Given the description of an element on the screen output the (x, y) to click on. 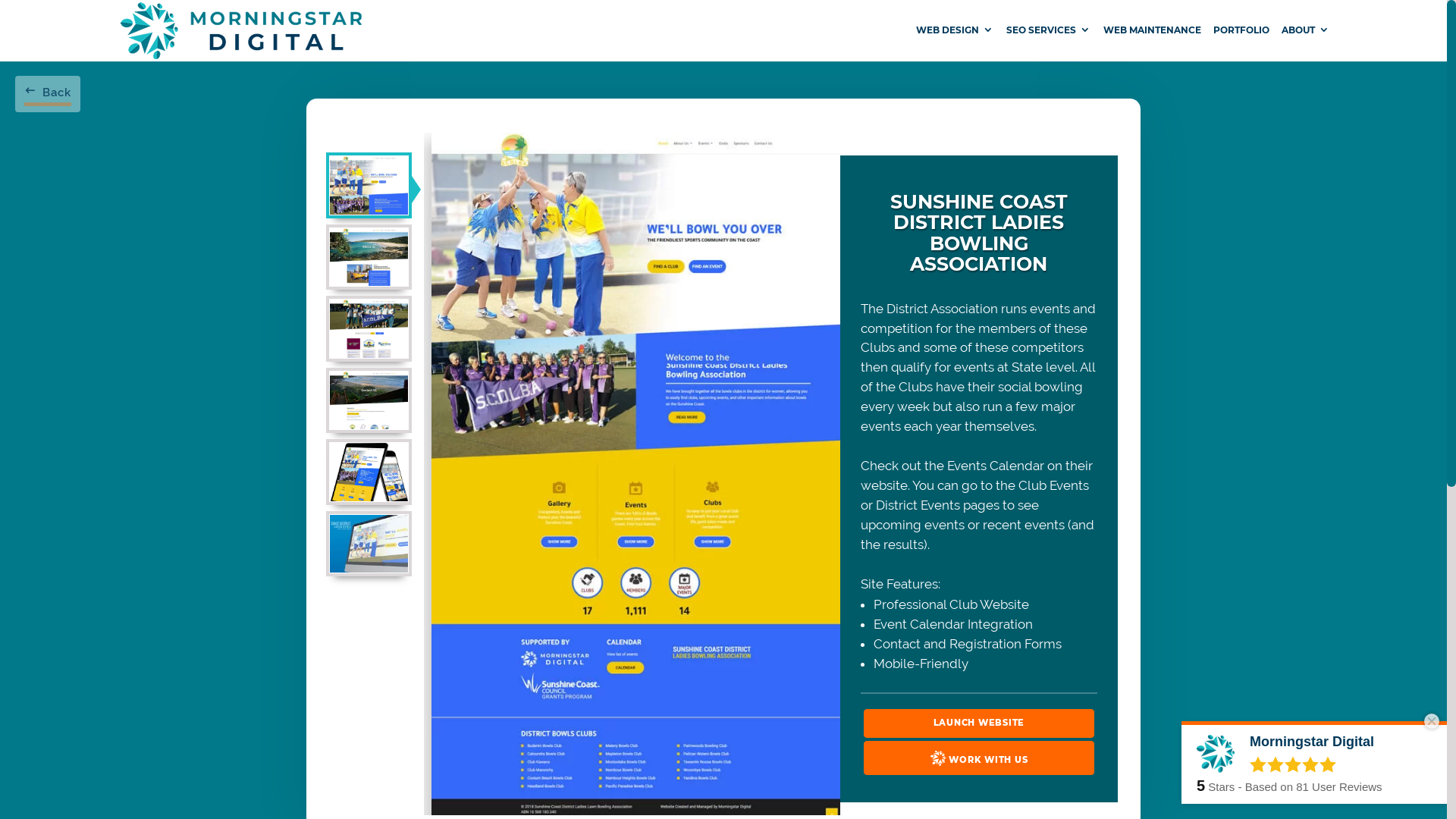
PORTFOLIO Element type: text (1241, 42)
WEB MAINTENANCE Element type: text (1152, 42)
Web Design Sunshine Coast Element type: hover (368, 543)
ABOUT Element type: text (1305, 42)
SEO SERVICES Element type: text (1048, 42)
Web Design Sunshine Coast Element type: hover (368, 471)
Back Element type: text (47, 93)
Web Design Sunshine Coast Element type: hover (368, 400)
WEB DESIGN Element type: text (955, 42)
Web Design Sunshine Coast Element type: hover (368, 328)
WORK WITH US Element type: text (978, 757)
Web Design Sunshine Coast Element type: hover (938, 757)
LAUNCH WEBSITE Element type: text (978, 723)
Web Design Sunshine Coast Element type: hover (368, 185)
Web Design Sunshine Coast Element type: hover (368, 256)
